Given the description of an element on the screen output the (x, y) to click on. 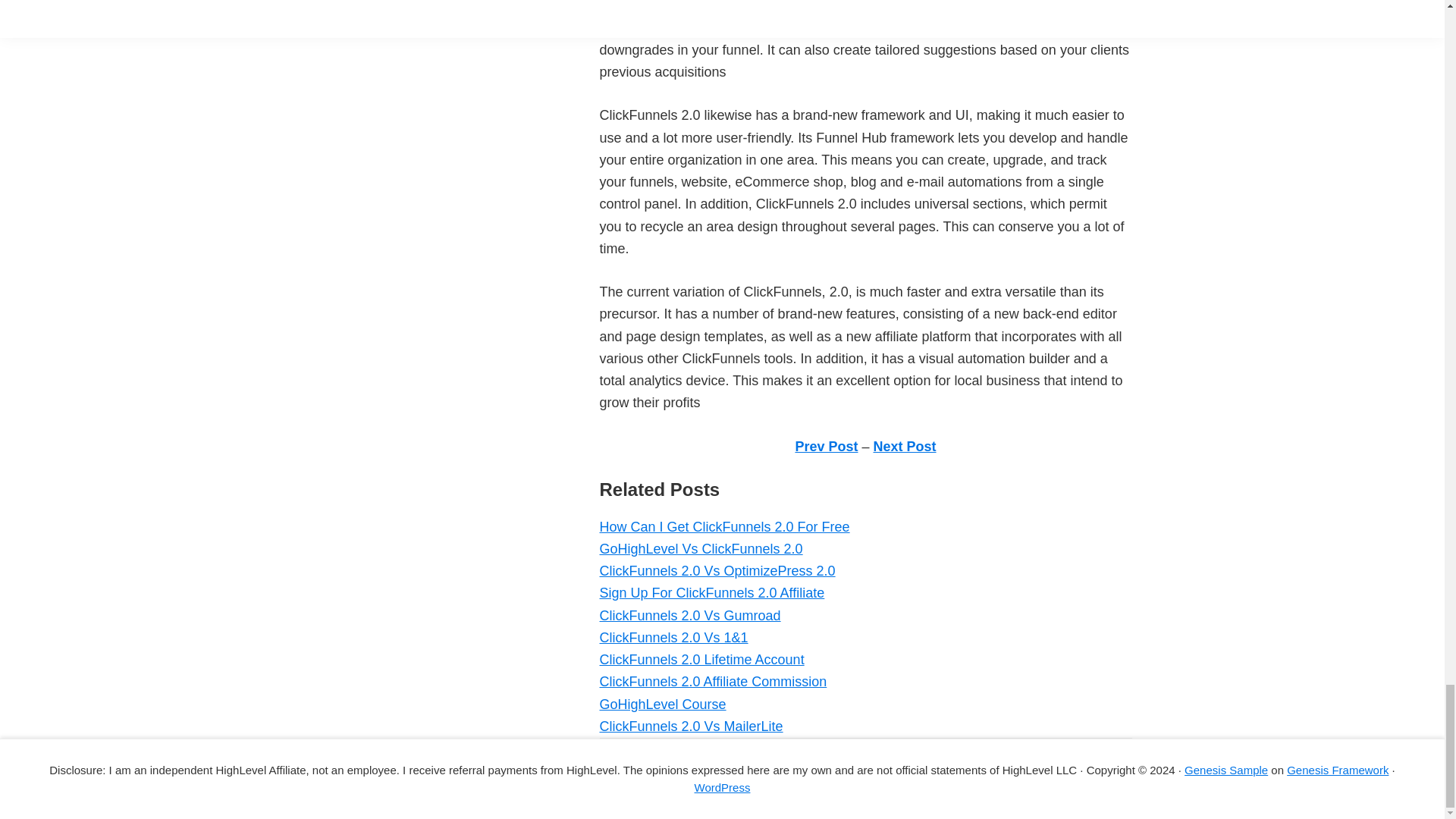
ClickFunnels 2.0 Vs MailerLite (690, 726)
ClickFunnels 2.0 Lifetime Account (700, 659)
ClickFunnels 2.0 Vs MailerLite (690, 726)
Next Post (904, 446)
GoHighLevel Course (661, 703)
ClickFunnels 2.0 Affiliate Commission (712, 681)
How Can I Get ClickFunnels 2.0 For Free (723, 526)
ClickFunnels 2.0 Vs OptimizePress 2.0 (716, 570)
GoHighLevel Vs ClickFunnels 2.0 (700, 548)
Prev Post (825, 446)
